Given the description of an element on the screen output the (x, y) to click on. 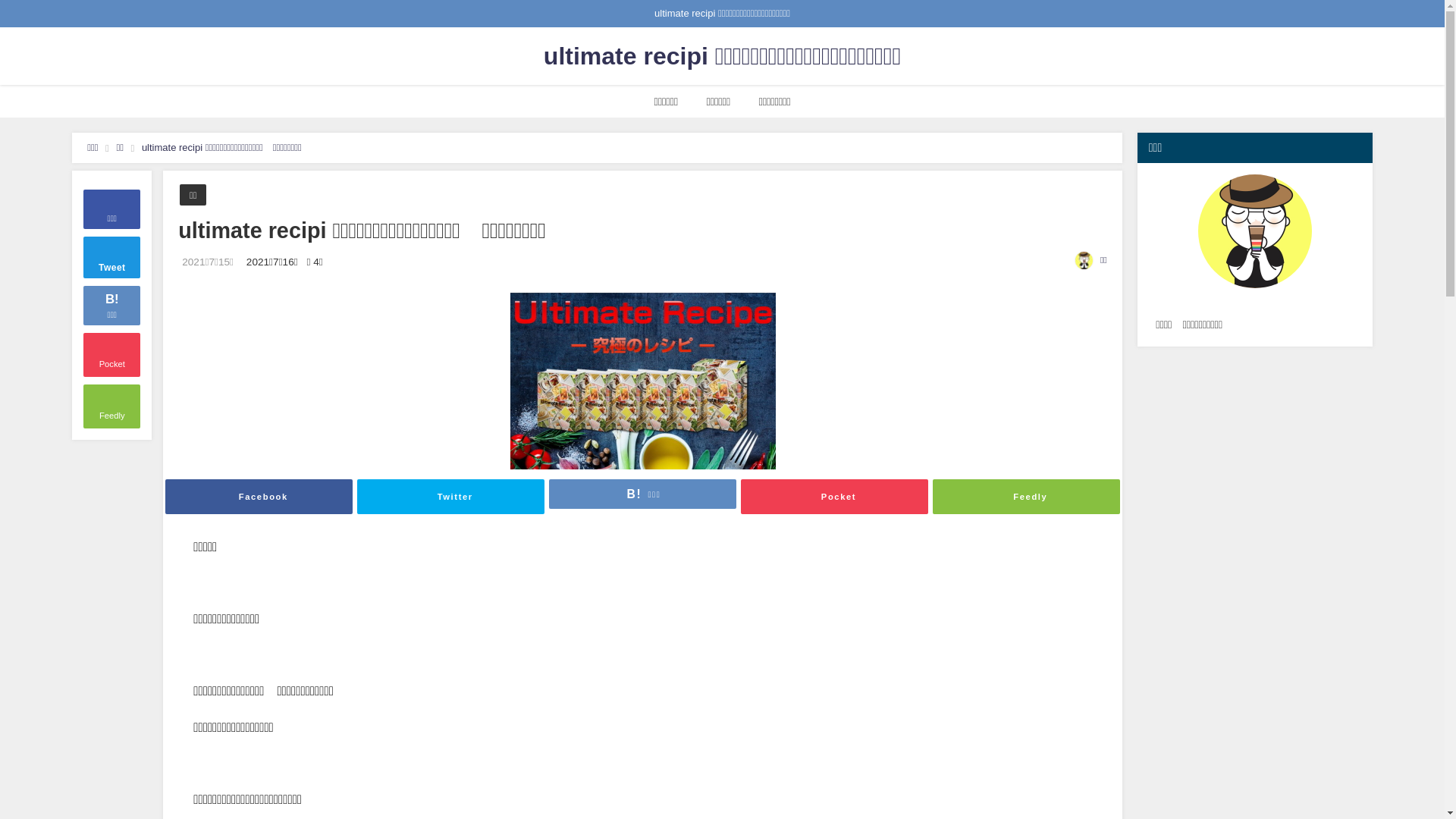
Feedly Element type: text (111, 406)
Facebook Element type: text (258, 496)
Twitter Element type: text (450, 496)
Pocket Element type: text (111, 354)
Pocket Element type: text (834, 496)
Tweet Element type: text (111, 257)
Feedly Element type: text (1026, 496)
